Given the description of an element on the screen output the (x, y) to click on. 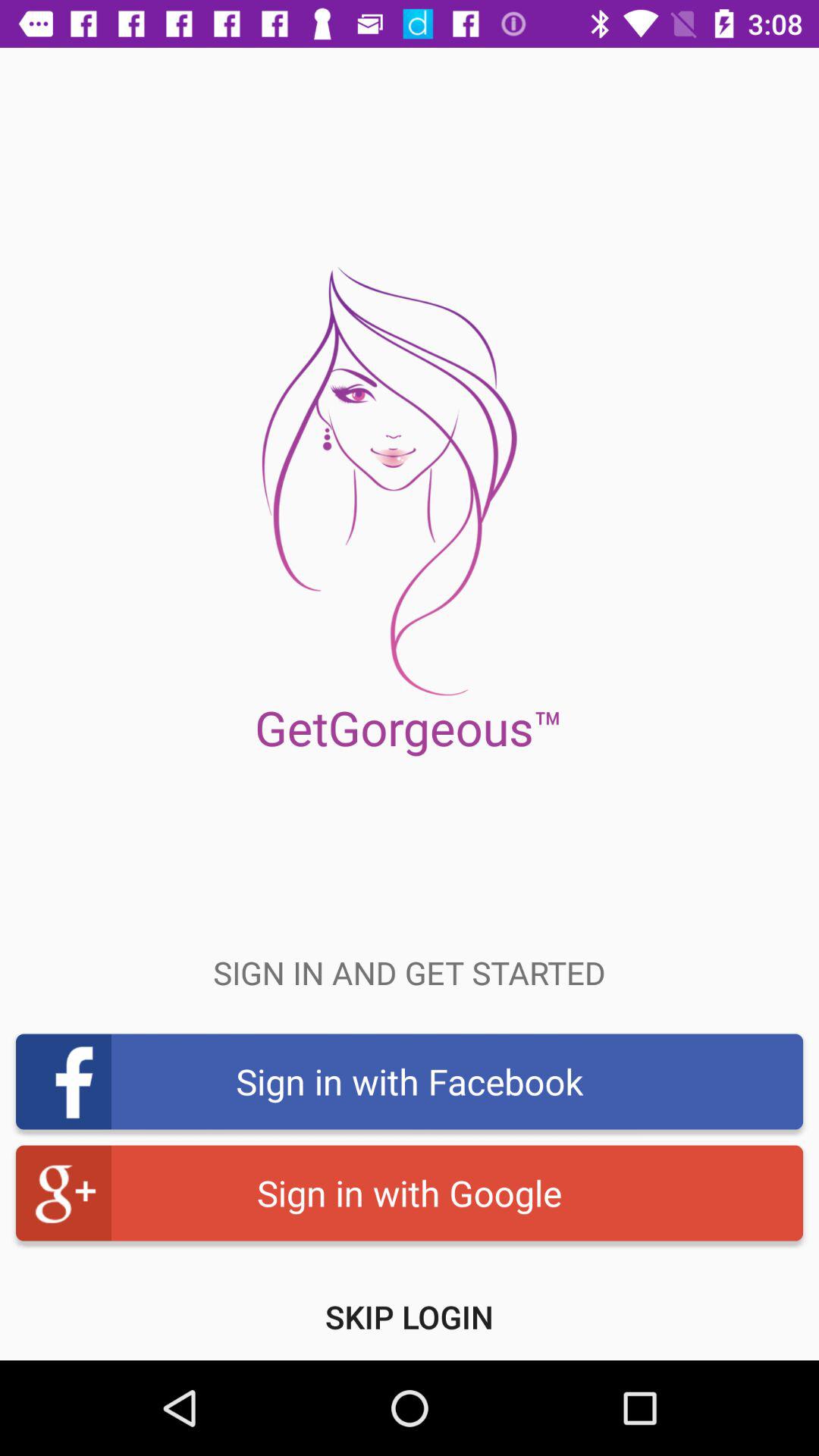
scroll until the skip login item (409, 1316)
